Given the description of an element on the screen output the (x, y) to click on. 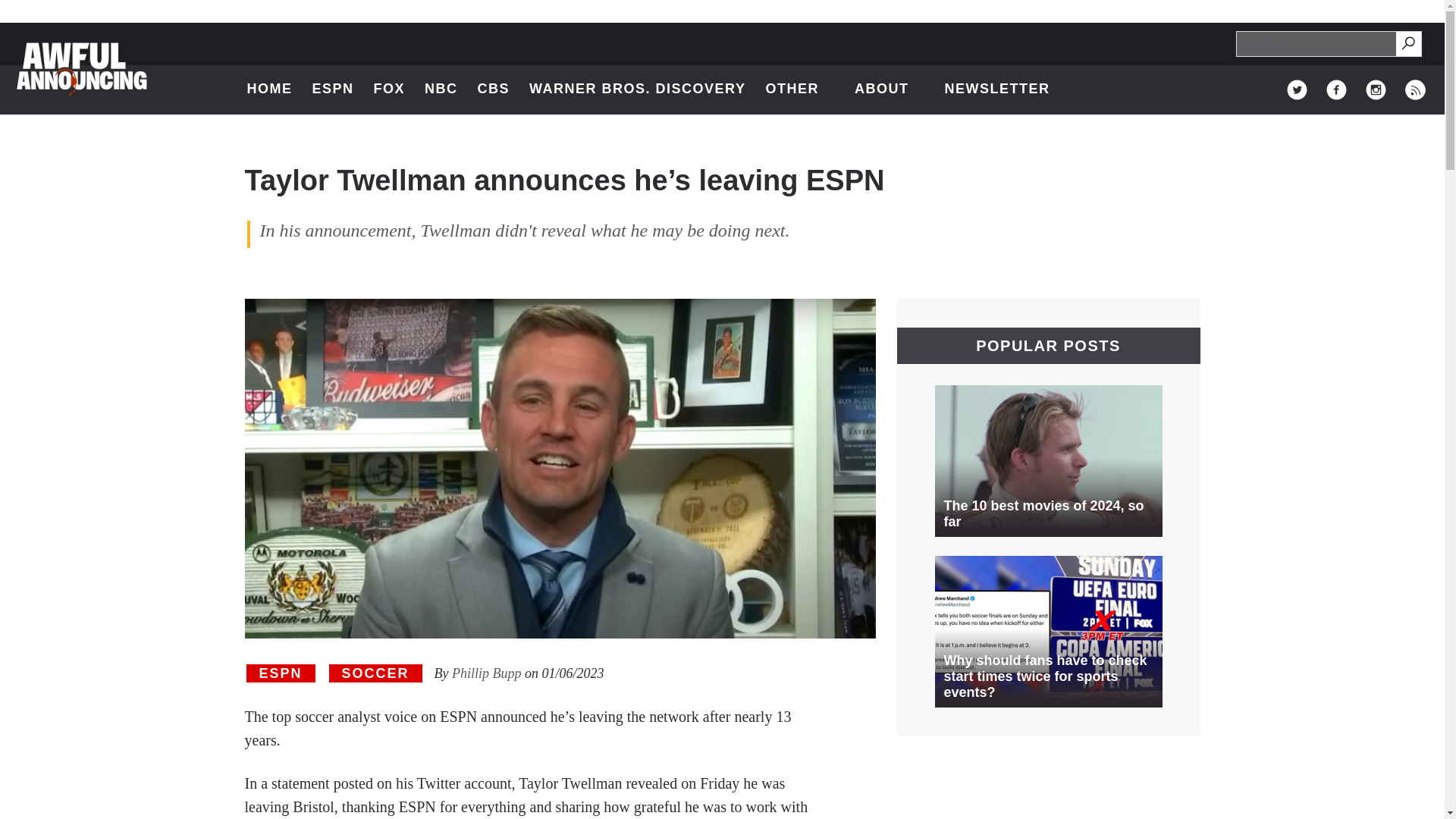
NBC (441, 89)
OTHER (799, 89)
WARNER BROS. DISCOVERY (636, 89)
NEWSLETTER (996, 89)
SEARCH (1409, 43)
CBS (1407, 42)
Link to Facebook (493, 89)
View all posts in ESPN (1336, 89)
Link to RSS (280, 673)
HOME (1414, 89)
ESPN (269, 89)
ABOUT (332, 89)
Link to Instagram (889, 89)
Link to Twitter (1375, 89)
